Given the description of an element on the screen output the (x, y) to click on. 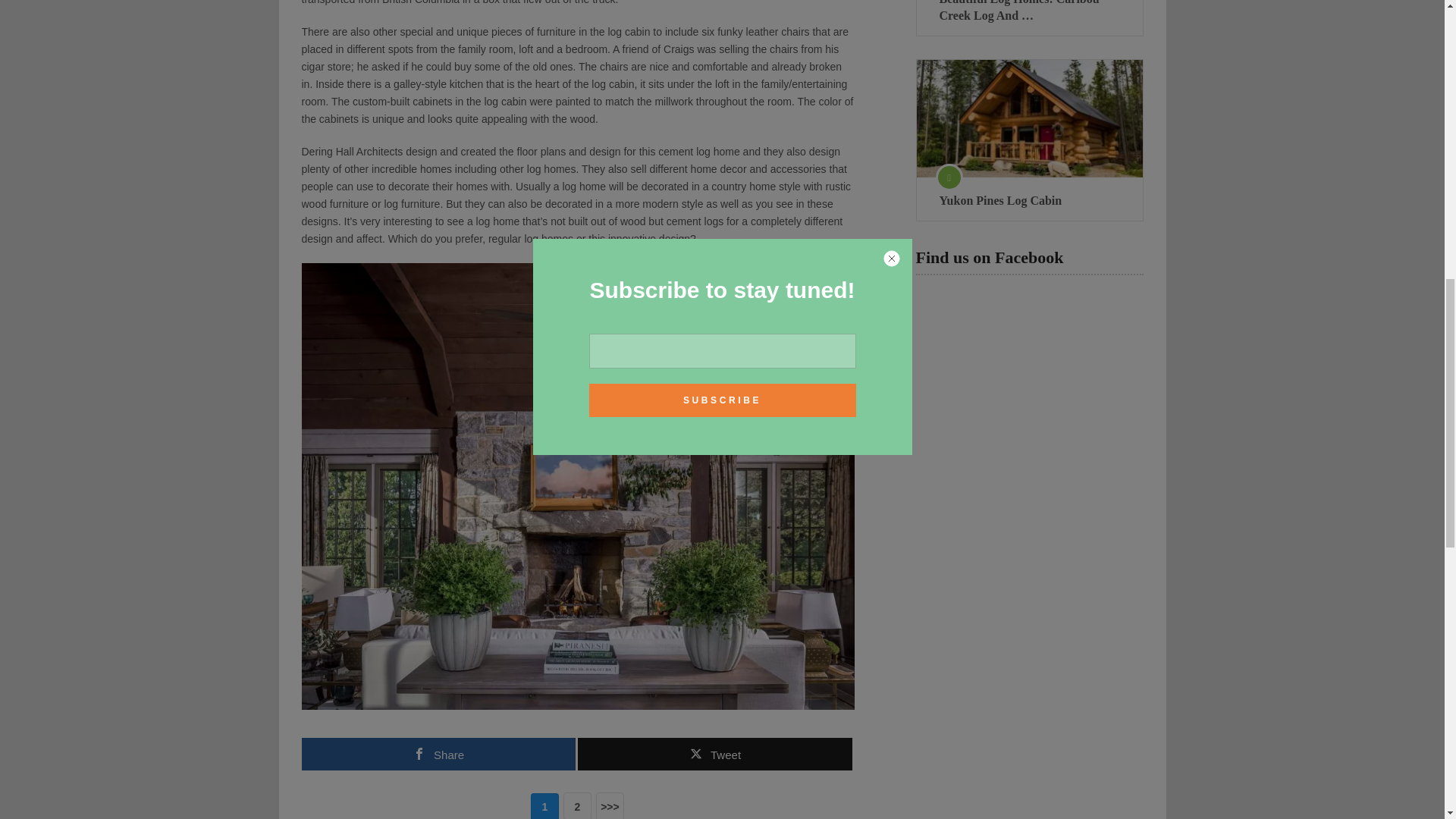
Beautiful Log Homes: Caribou Creek Log And Timber (1029, 12)
Yukon Pines Log Cabin (1028, 118)
Yukon Pines Log Cabin (1029, 200)
2 (577, 805)
Yukon Pines Log Cabin (1029, 200)
Tweet (714, 753)
Share (438, 753)
